Given the description of an element on the screen output the (x, y) to click on. 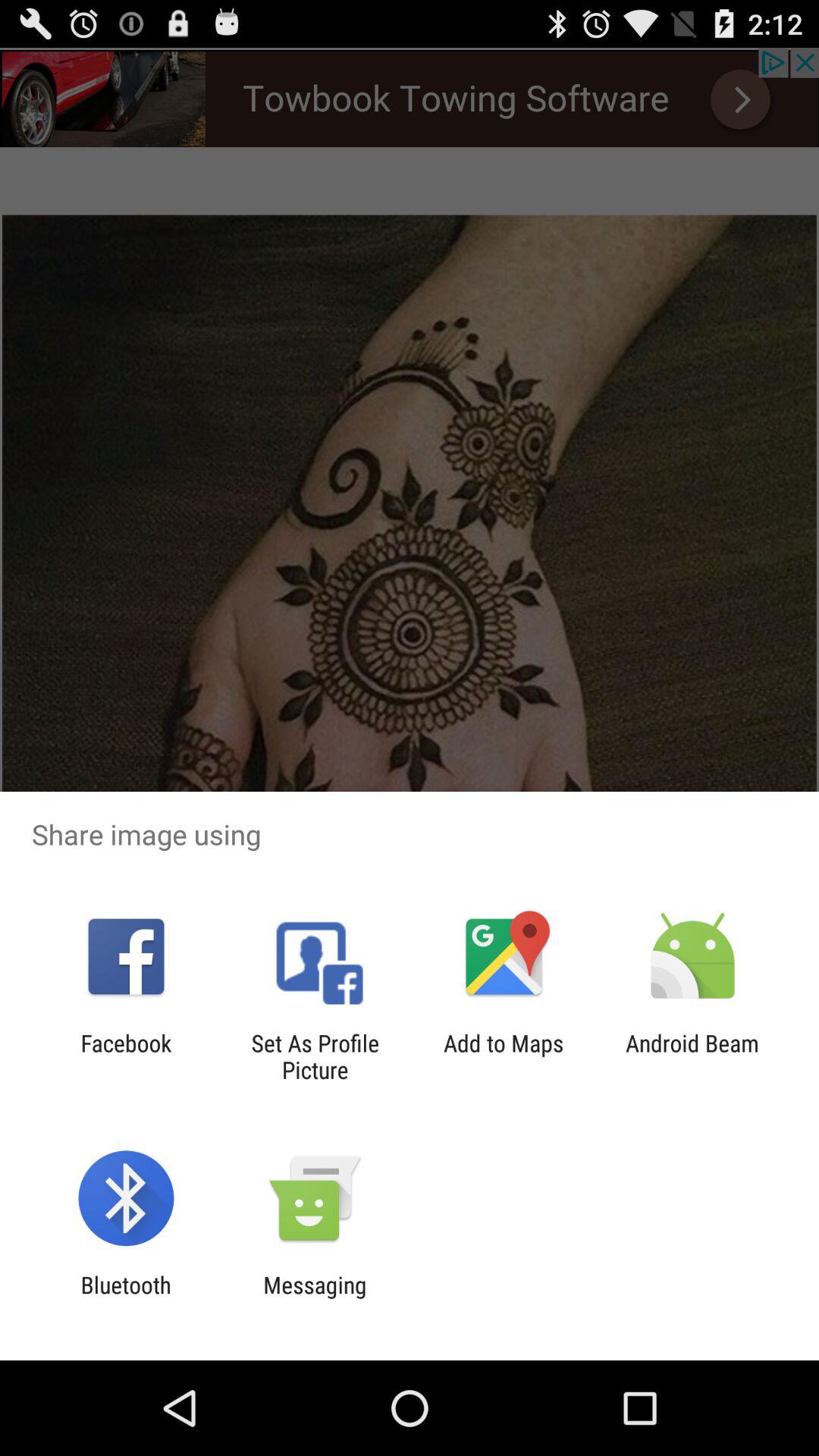
choose the item to the right of add to maps (692, 1056)
